Given the description of an element on the screen output the (x, y) to click on. 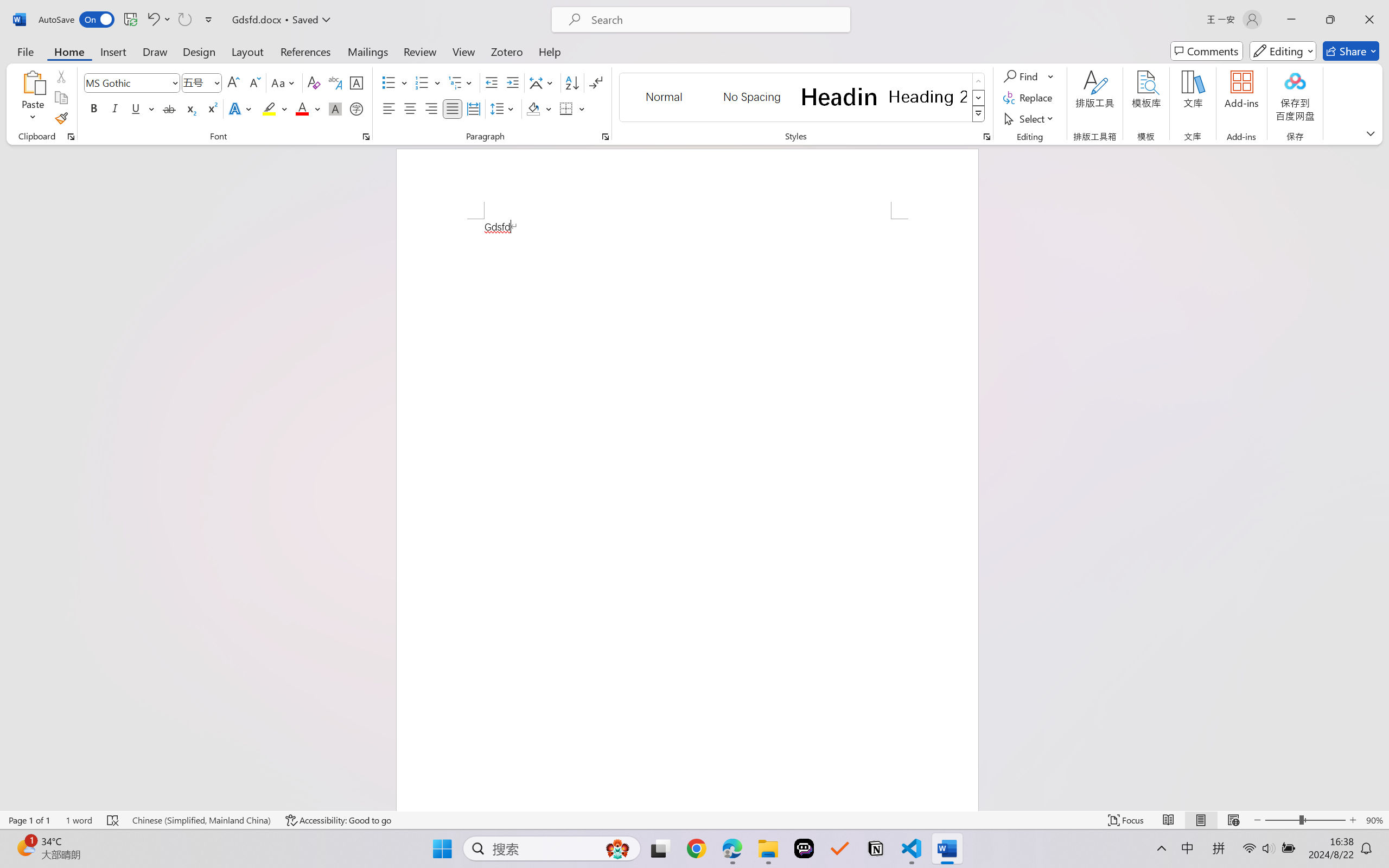
Undo Font Formatting (158, 19)
